Given the description of an element on the screen output the (x, y) to click on. 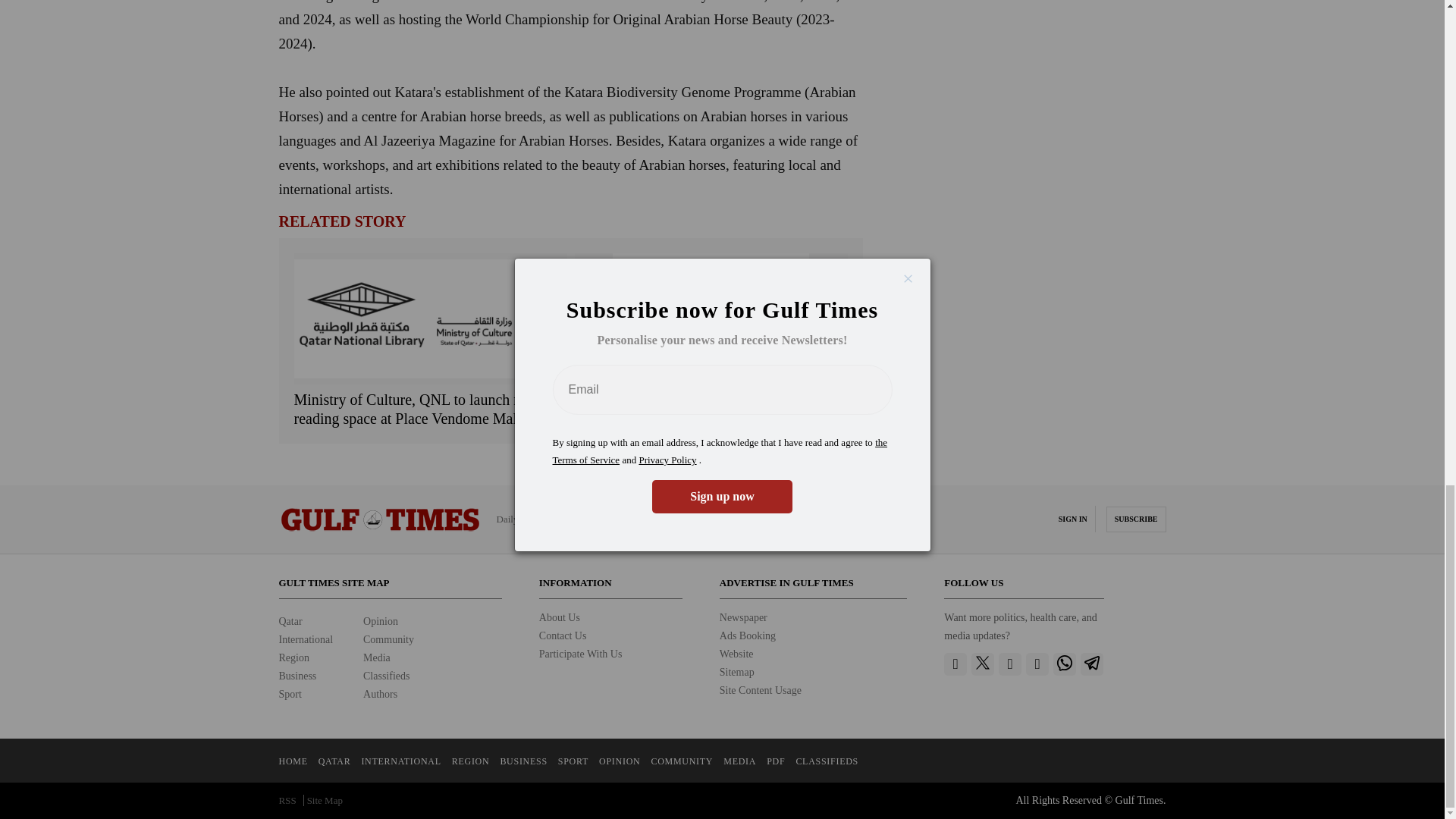
Region (293, 657)
About Us (558, 617)
SIGN IN (1072, 519)
Arab League condemns Israeli military operation in West Bank (711, 409)
Business (298, 675)
Opinion (379, 621)
Community (387, 639)
International (306, 639)
Sport (290, 694)
